Given the description of an element on the screen output the (x, y) to click on. 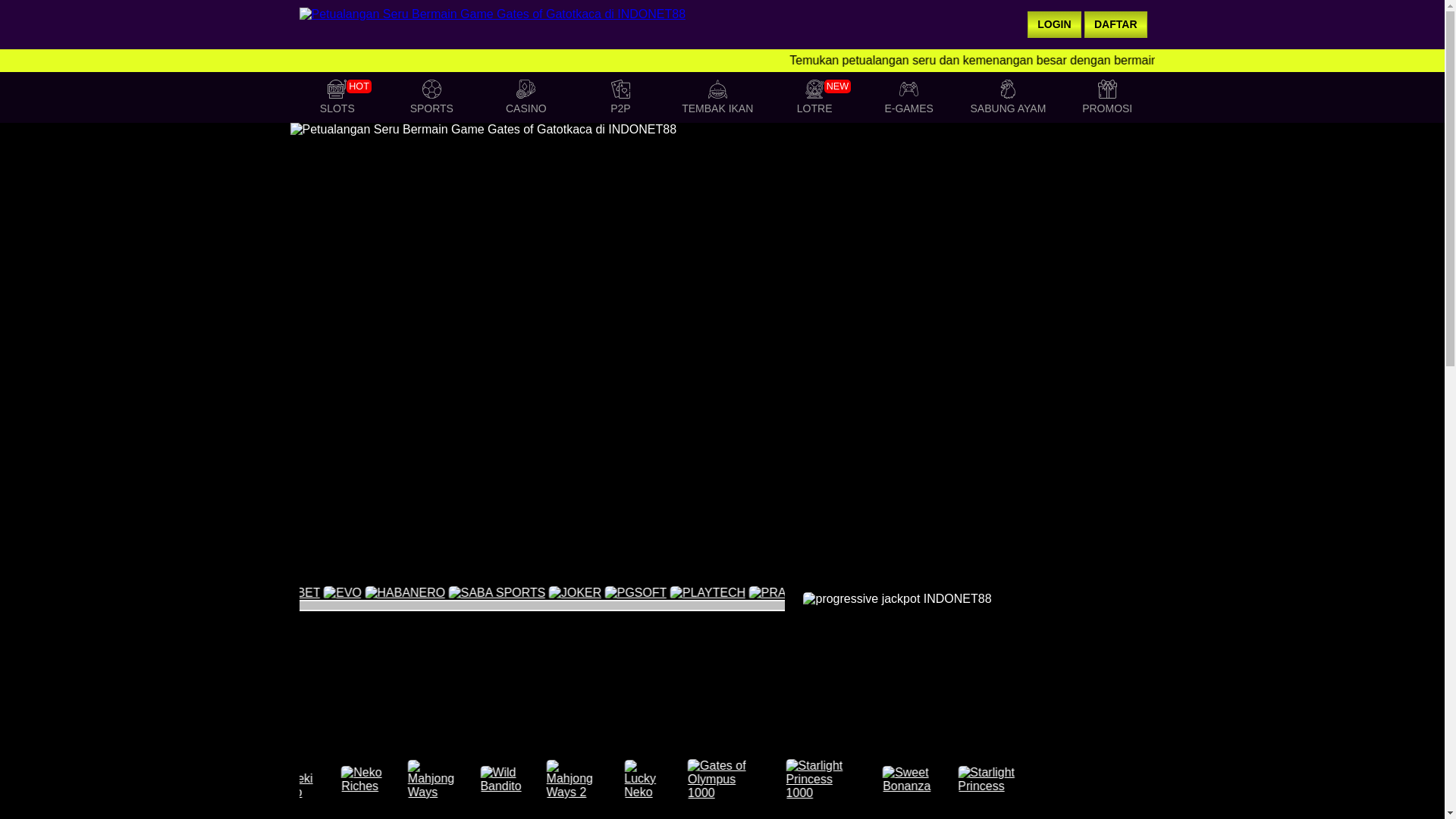
LOGIN (1053, 24)
SABUNG AYAM (1007, 98)
SPORTS (430, 98)
P2P (620, 98)
TEMBAK IKAN (717, 98)
PROMOSI (337, 98)
CASINO (1106, 98)
E-GAMES (813, 98)
DAFTAR (525, 98)
